Given the description of an element on the screen output the (x, y) to click on. 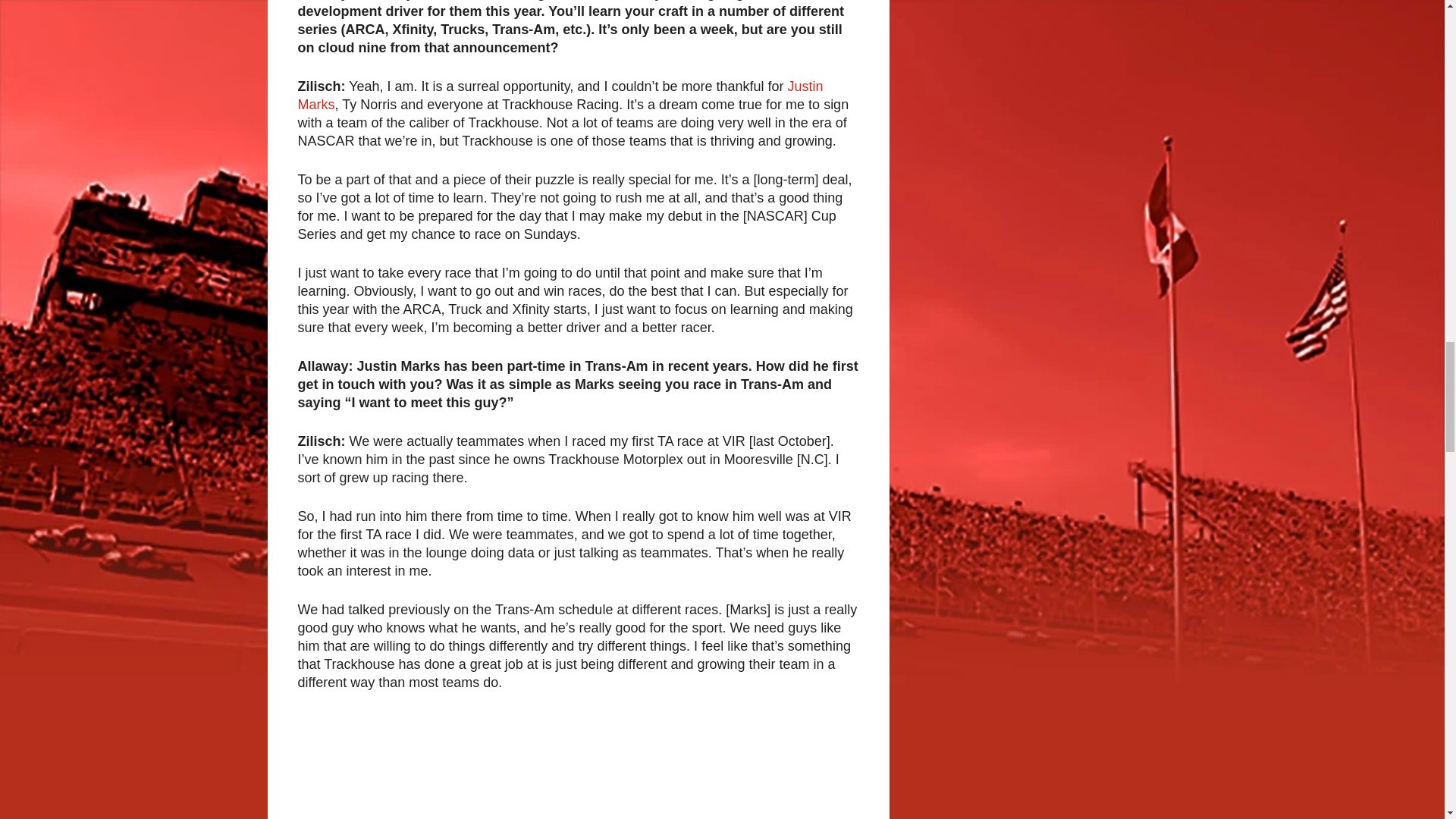
Justin Marks (559, 95)
